Given the description of an element on the screen output the (x, y) to click on. 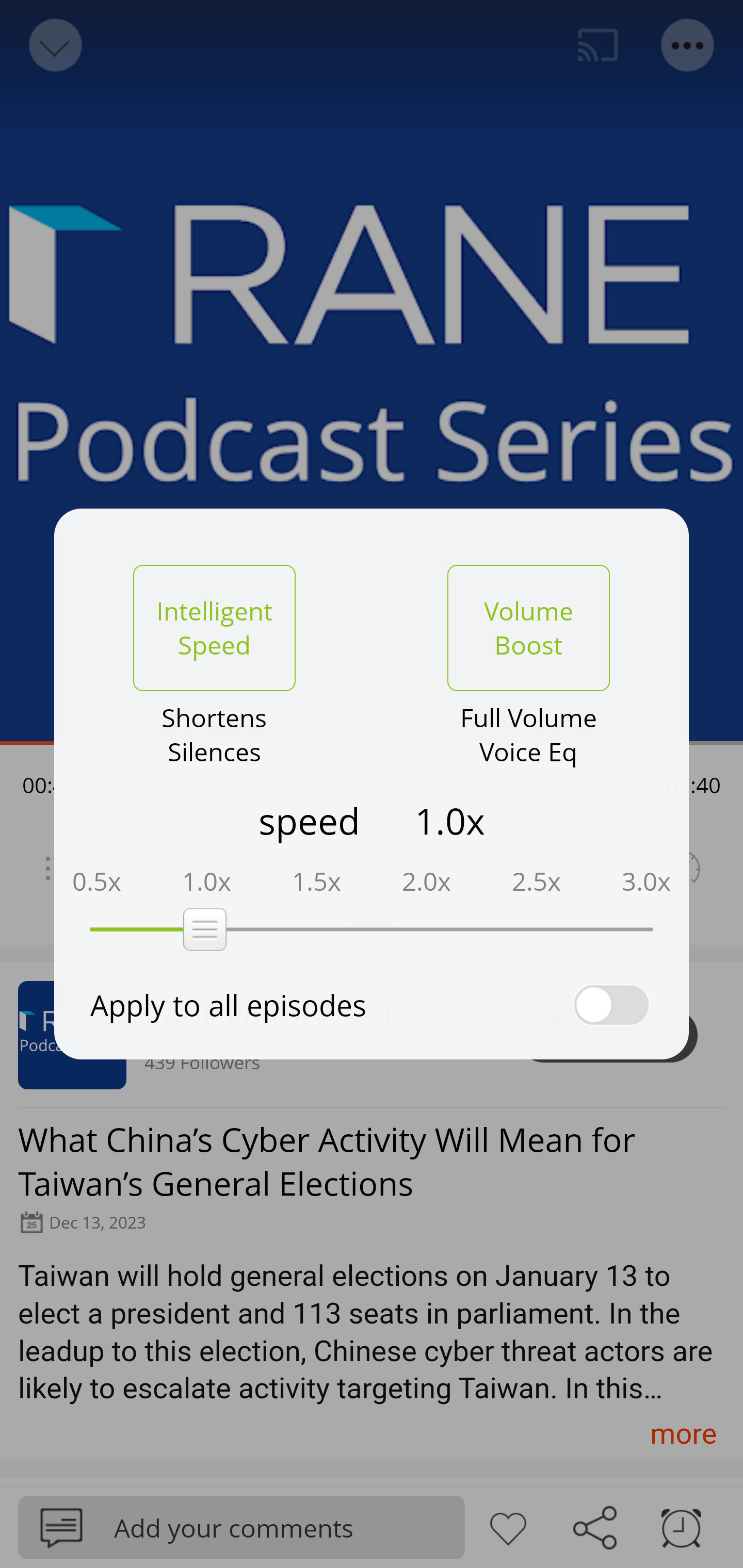
Intelligent
Speed (213, 627)
Volume
Boost (528, 627)
